Given the description of an element on the screen output the (x, y) to click on. 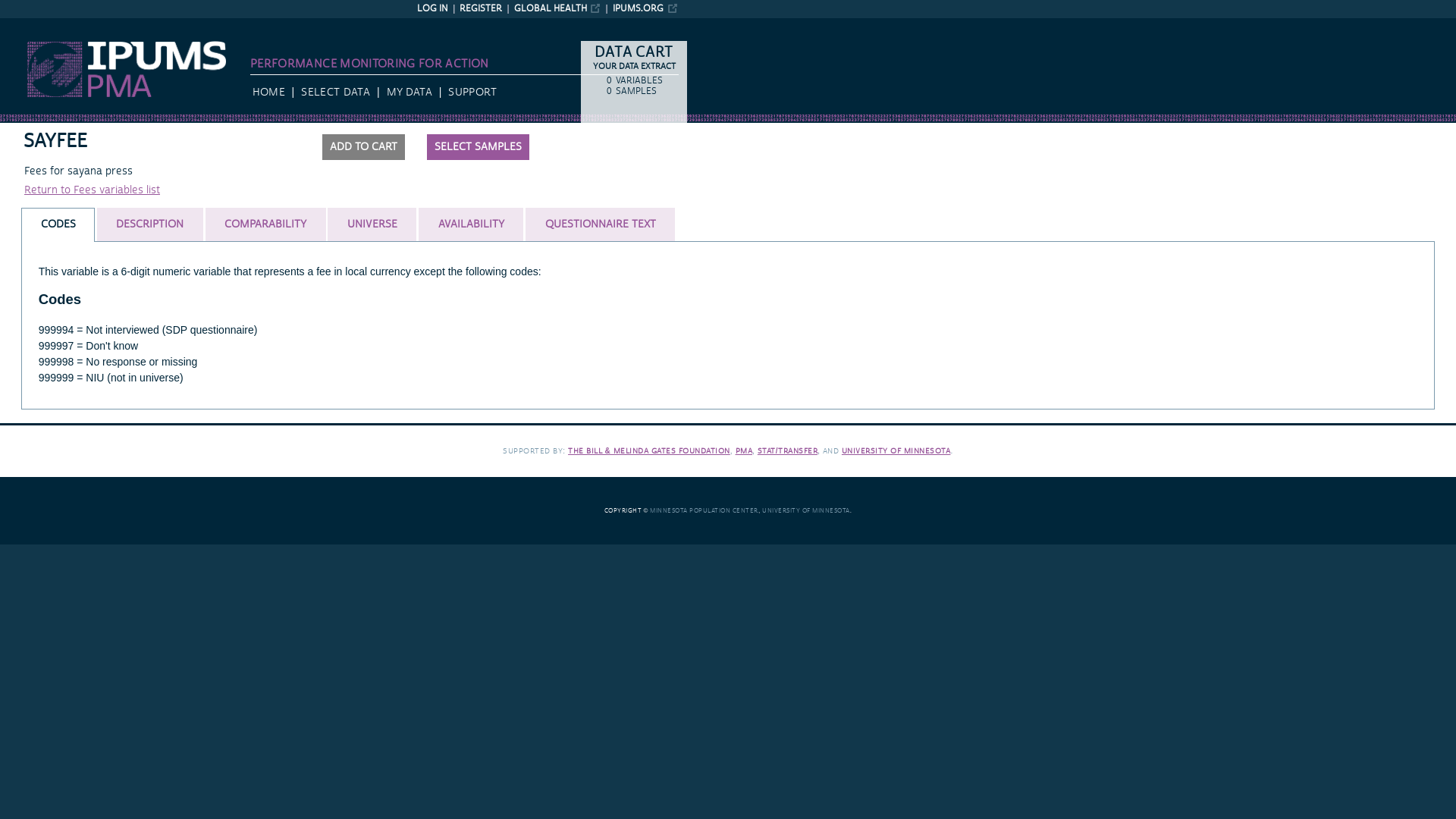
Return to Fees variables list (92, 190)
REGISTER (481, 8)
COMPARABILITY (265, 224)
DESCRIPTION (149, 224)
SUPPORT (472, 92)
Add to cart (362, 146)
LOG IN (432, 8)
SELECT SAMPLES (477, 146)
MINNESOTA POPULATION CENTER (703, 510)
UNIVERSITY OF MINNESOTA (805, 510)
UNIVERSE (371, 224)
QUESTIONNAIRE TEXT (599, 224)
CODES (57, 224)
PMA (743, 450)
HOME (267, 92)
